Given the description of an element on the screen output the (x, y) to click on. 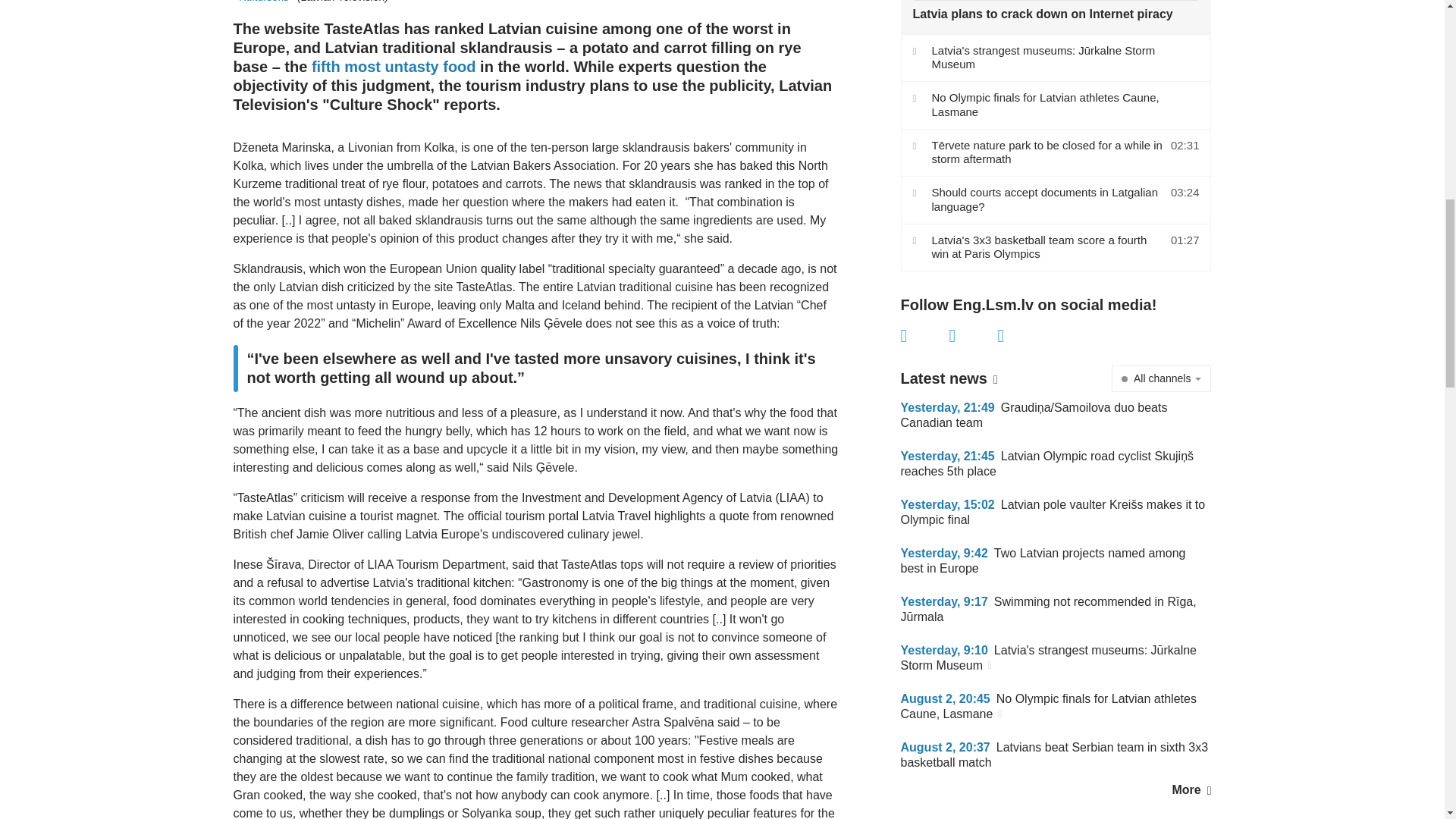
X (973, 335)
Linkedin (1021, 335)
Facebook (925, 335)
